Given the description of an element on the screen output the (x, y) to click on. 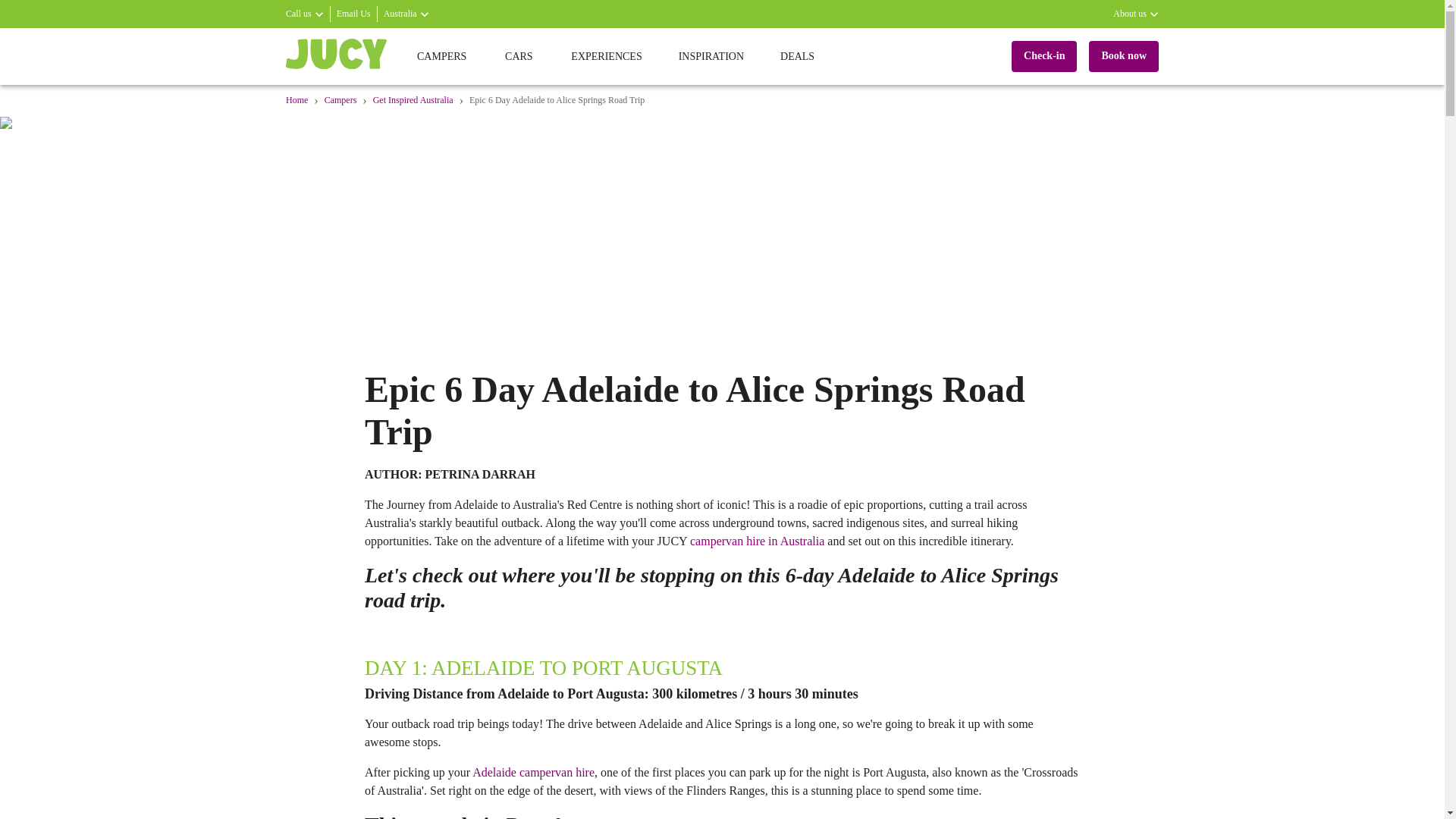
DEALS (796, 56)
campervan hire in Australia (757, 540)
Get Inspired Australia (412, 101)
Campers (340, 101)
Book now (1123, 56)
Australia (406, 13)
INSPIRATION (711, 56)
CARS (518, 56)
Check-in (1044, 56)
Call us (304, 13)
